Given the description of an element on the screen output the (x, y) to click on. 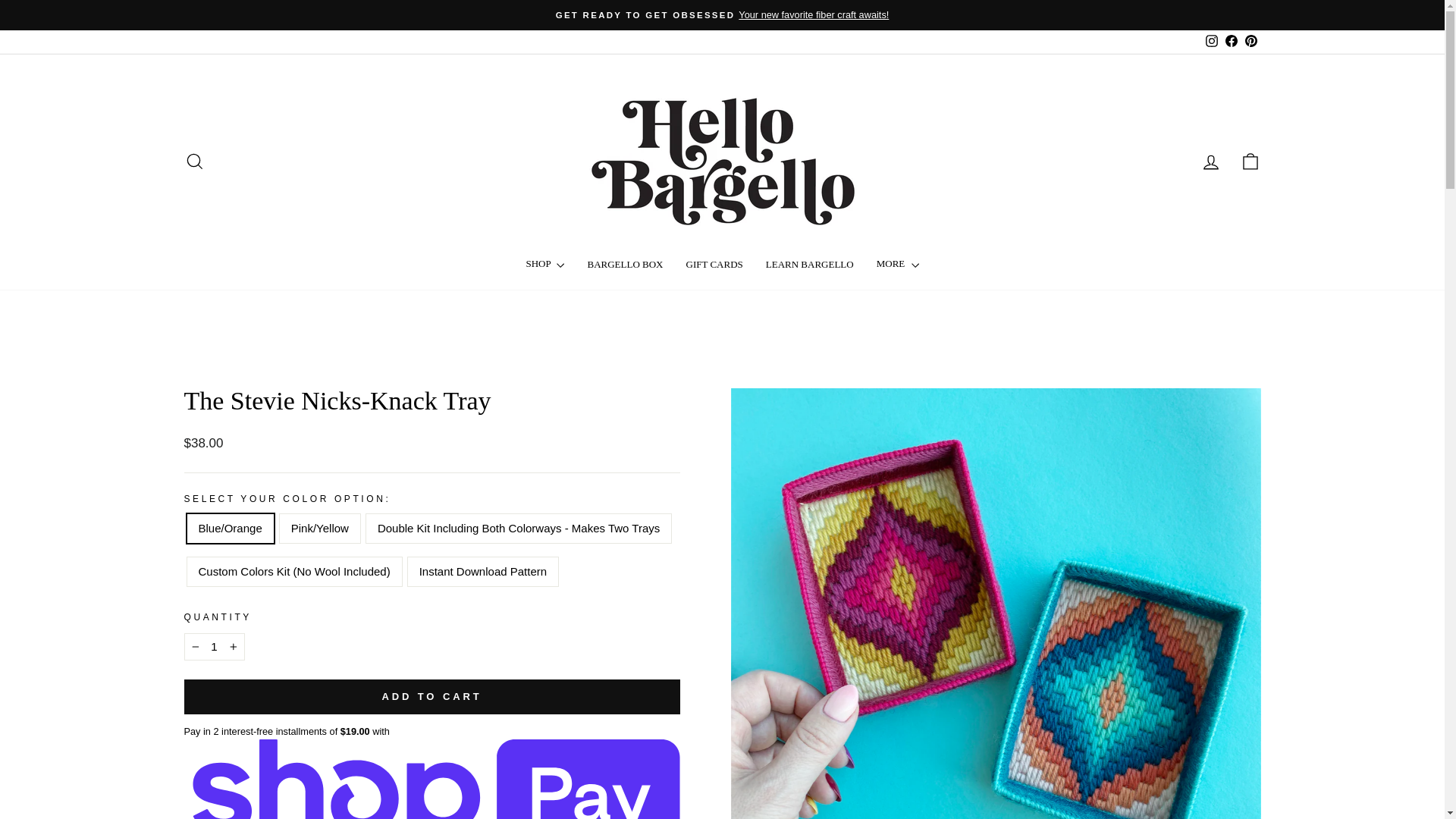
ICON-SEARCH (194, 160)
Hello Bargello on Instagram (194, 160)
ICON-BAG-MINIMAL (1211, 41)
Hello Bargello on Pinterest (1249, 160)
Facebook (1250, 41)
Double Kit Including Both Colorways - Makes Two Trays (1230, 41)
instagram (1211, 41)
Pinterest (1211, 40)
Hello Bargello on Facebook (1210, 161)
Instant Download Pattern (1210, 160)
